Given the description of an element on the screen output the (x, y) to click on. 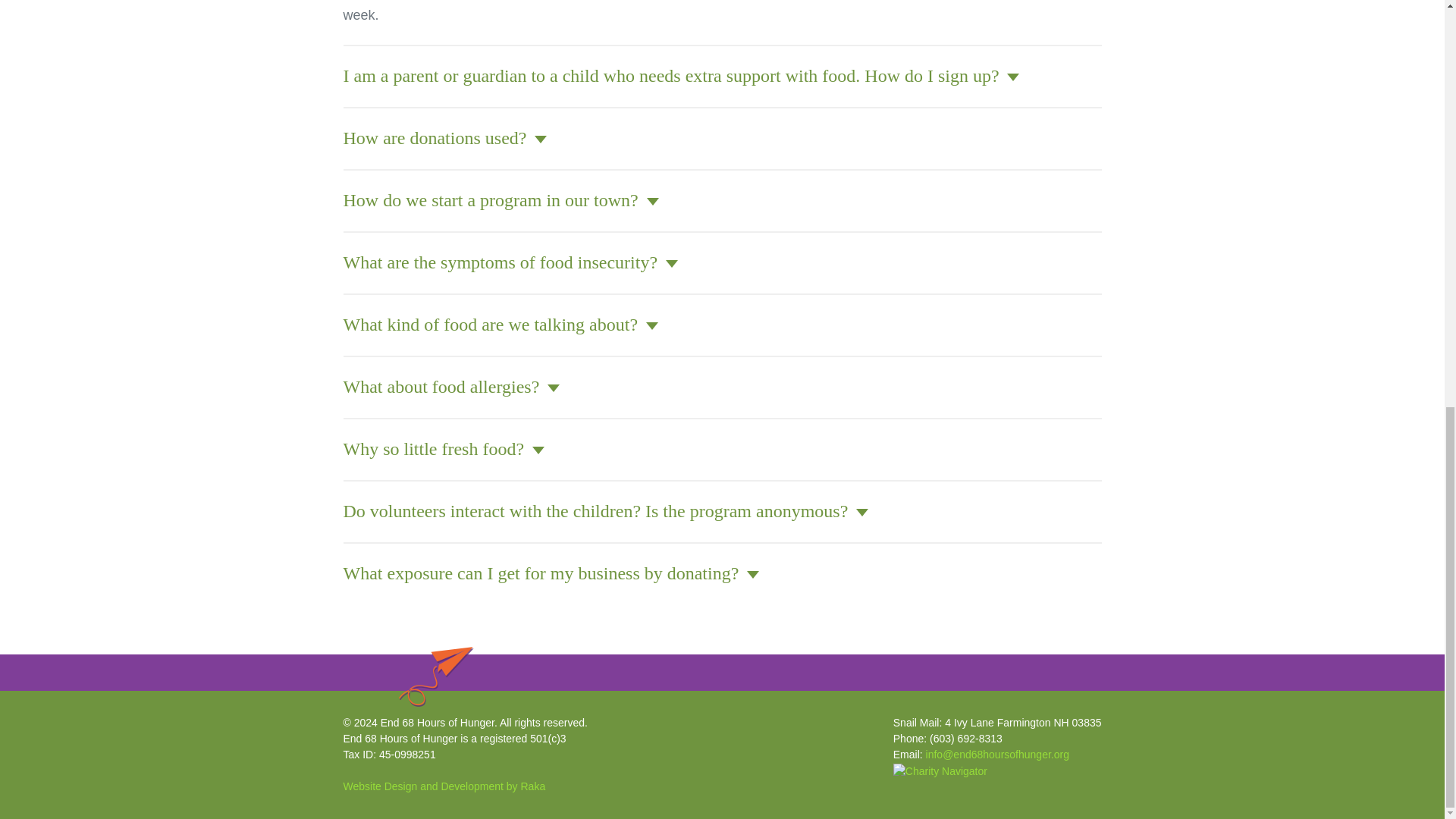
What are the symptoms of food insecurity? (509, 261)
What exposure can I get for my business by donating? (550, 573)
Website Design and Development by Raka (443, 786)
What kind of food are we talking about? (500, 324)
Email us (997, 754)
What about food allergies? (450, 386)
How are donations used? (444, 137)
Why so little fresh food? (442, 448)
